Given the description of an element on the screen output the (x, y) to click on. 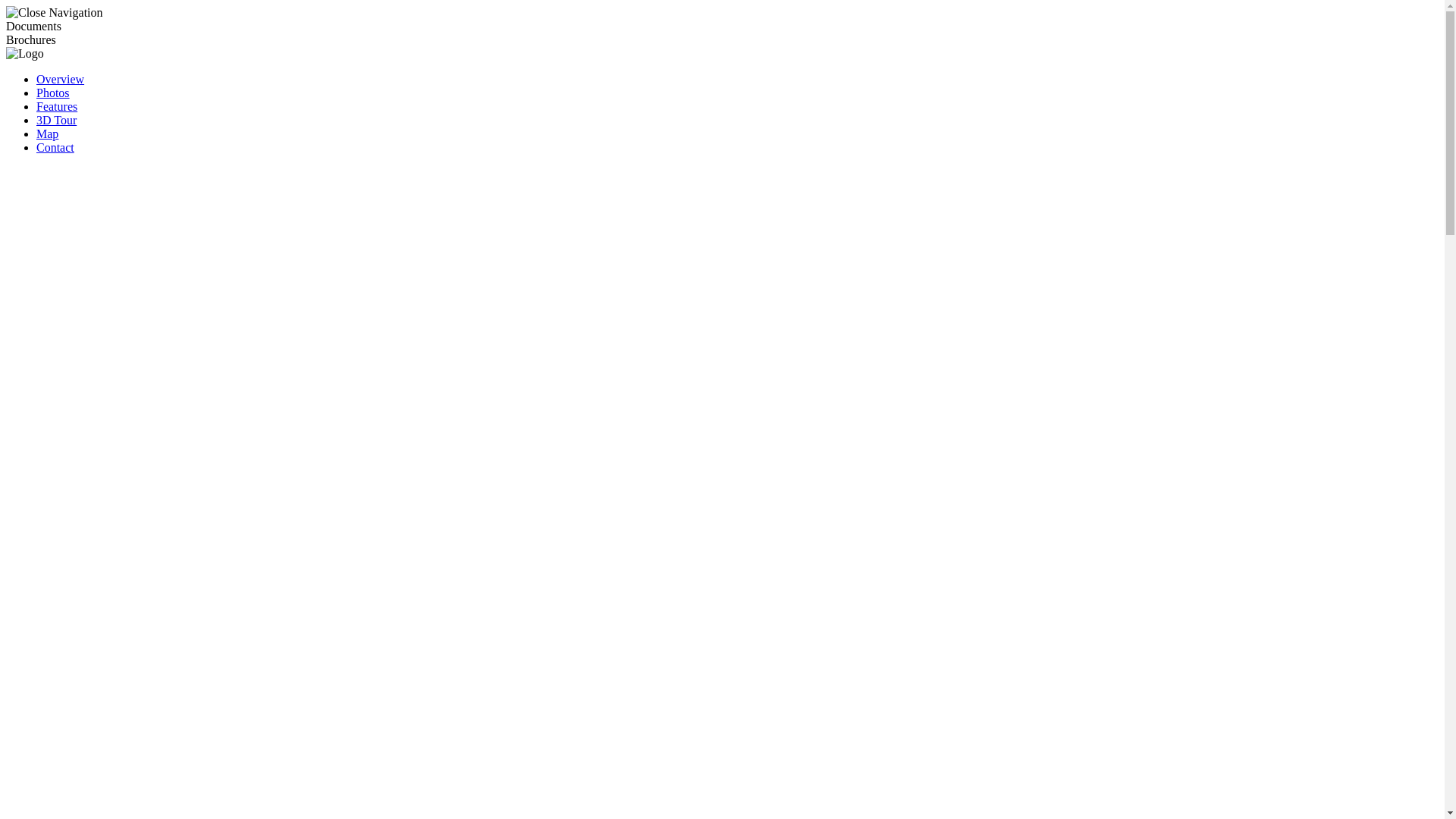
3D Tour Element type: text (56, 119)
Map Element type: text (47, 133)
Overview Element type: text (60, 78)
Contact Element type: text (55, 147)
Features Element type: text (56, 106)
Photos Element type: text (52, 92)
